Given the description of an element on the screen output the (x, y) to click on. 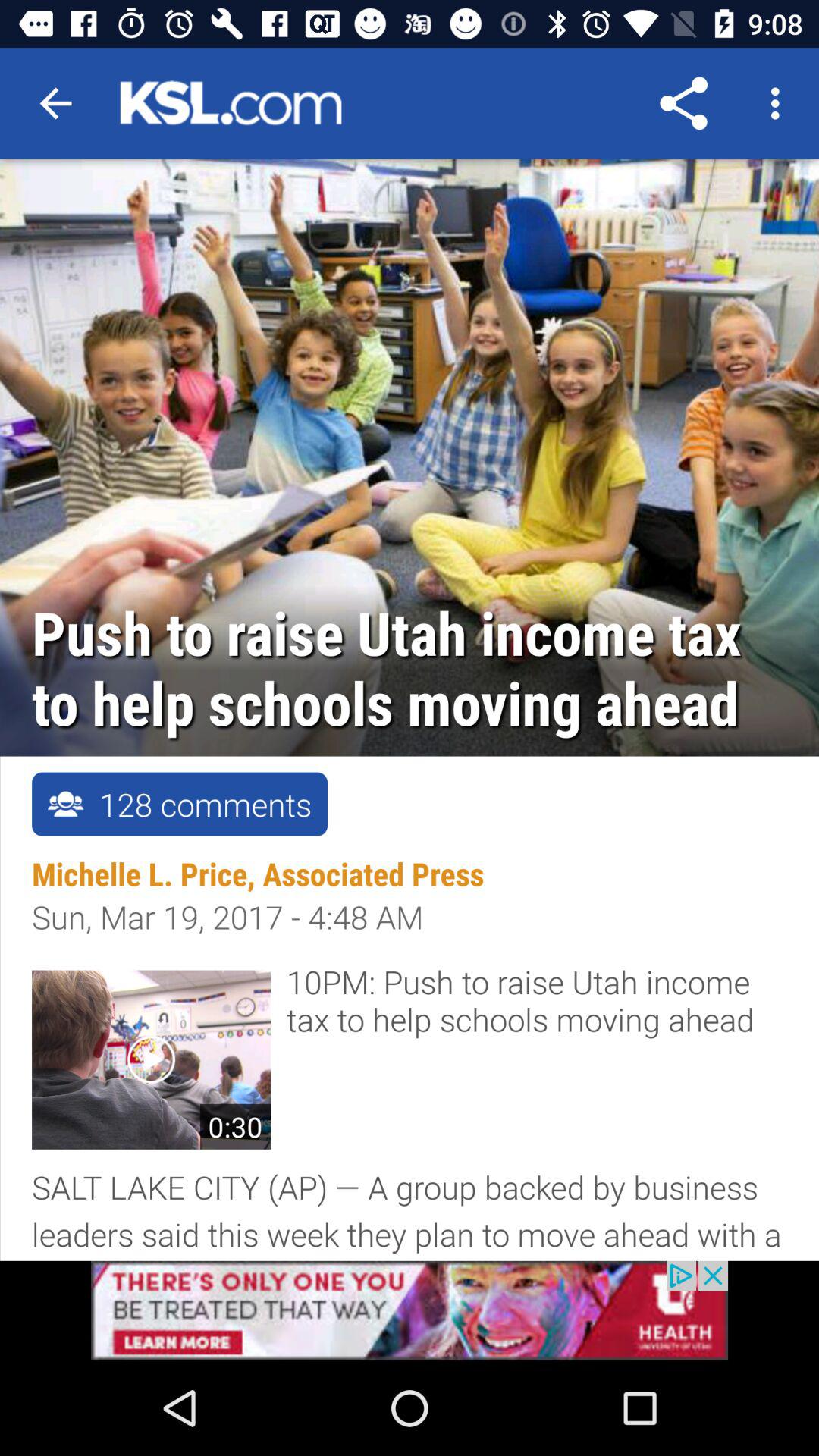
select advertisement (409, 1310)
